Given the description of an element on the screen output the (x, y) to click on. 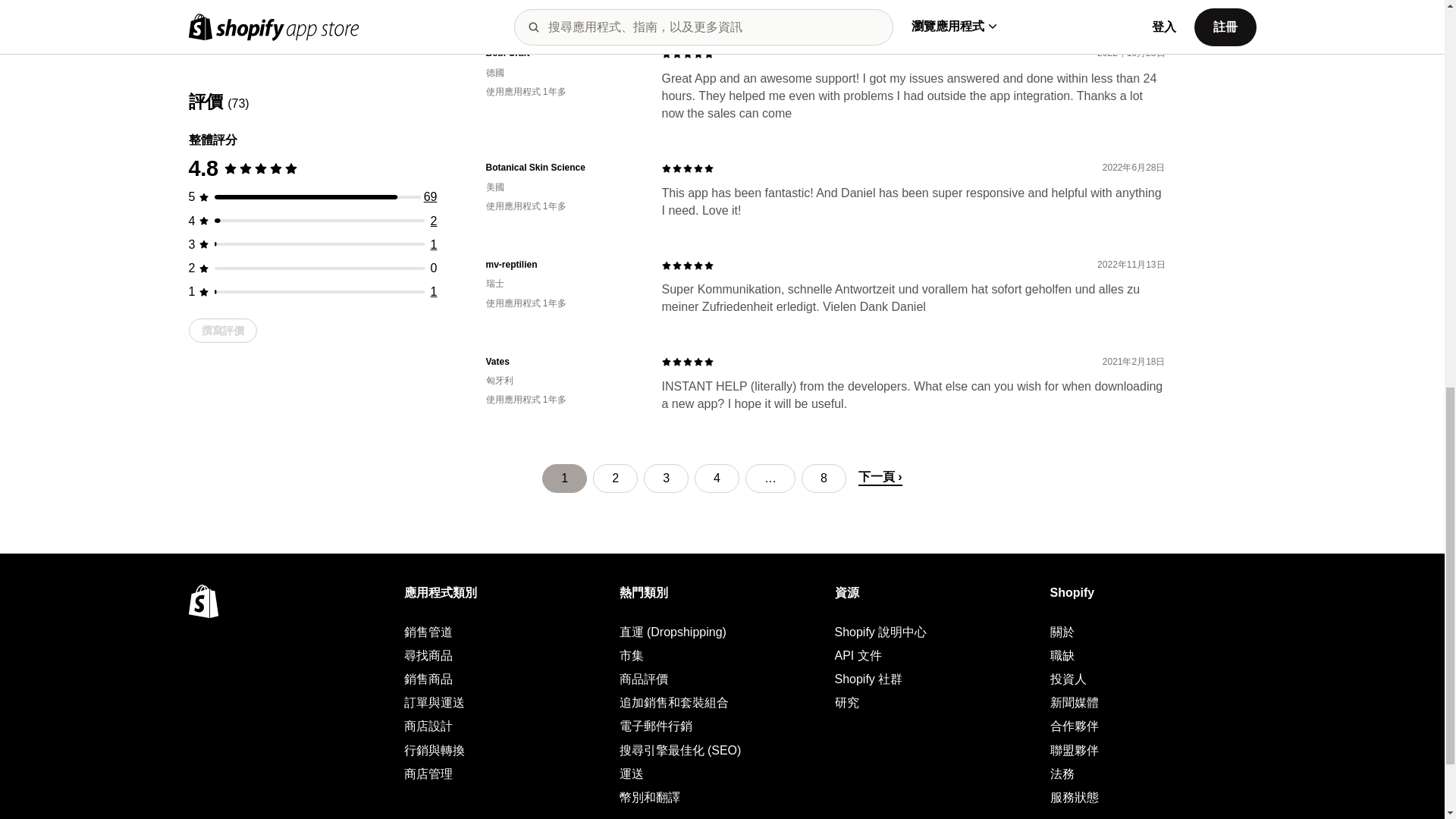
Botanical Skin Science (560, 167)
mv-reptilien (560, 264)
Bobi Craft (560, 52)
Vates (560, 361)
